Given the description of an element on the screen output the (x, y) to click on. 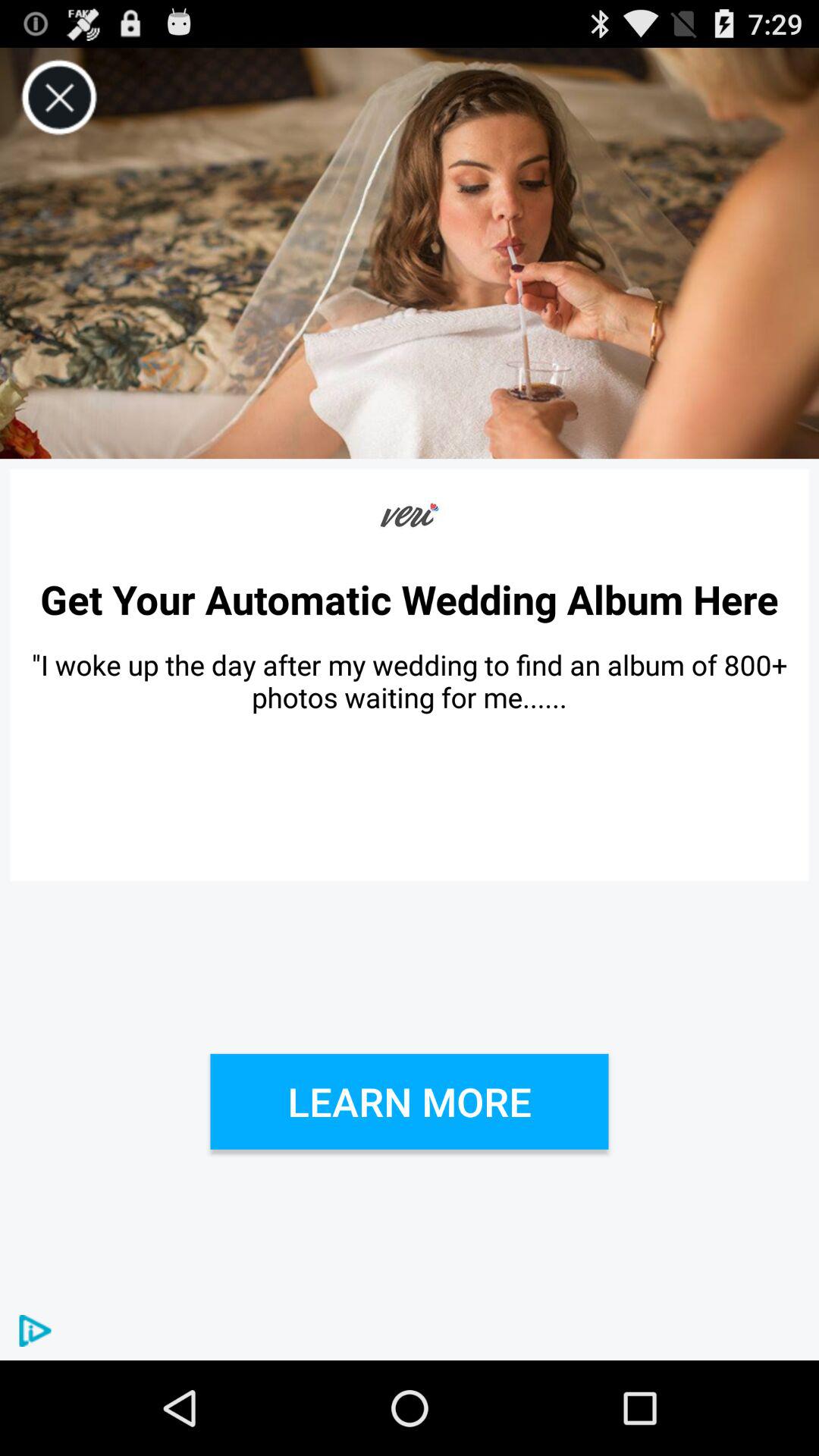
choose learn more item (409, 1101)
